Given the description of an element on the screen output the (x, y) to click on. 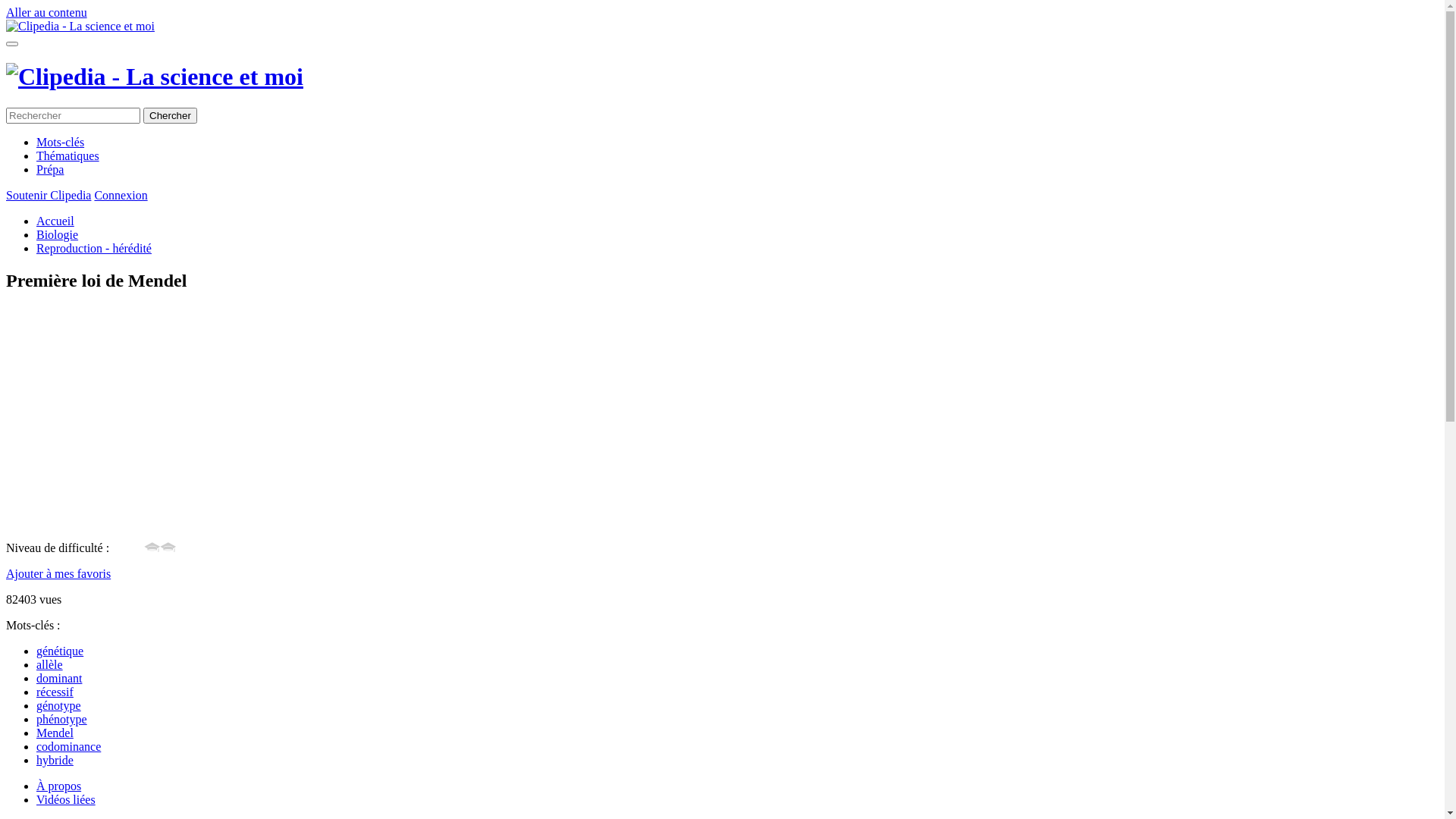
Aller au contenu Element type: text (46, 12)
hybride Element type: text (54, 759)
Chercher Element type: text (170, 115)
dominant Element type: text (58, 677)
Connexion Element type: text (120, 194)
Soutenir Clipedia Element type: text (48, 194)
Mendel Element type: text (54, 732)
global.Close navigation Element type: hover (12, 43)
codominance Element type: text (68, 746)
Biologie Element type: text (57, 234)
Accueil Element type: text (55, 220)
